Given the description of an element on the screen output the (x, y) to click on. 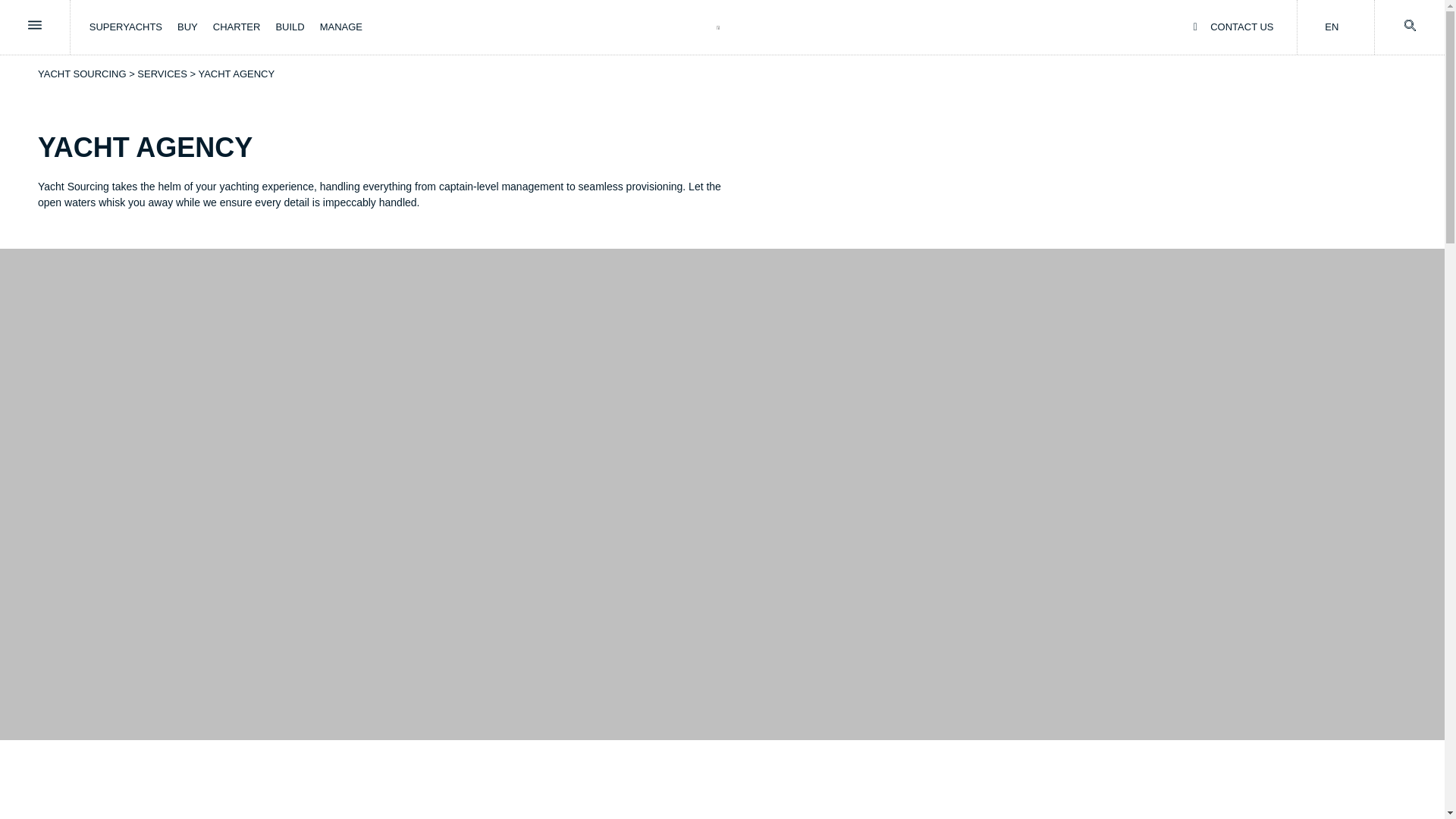
EN (1331, 27)
EN (1331, 27)
SERVICES (161, 73)
SUPERYACHTS (124, 27)
CONTACT US (1233, 27)
YACHT SOURCING (81, 73)
